Given the description of an element on the screen output the (x, y) to click on. 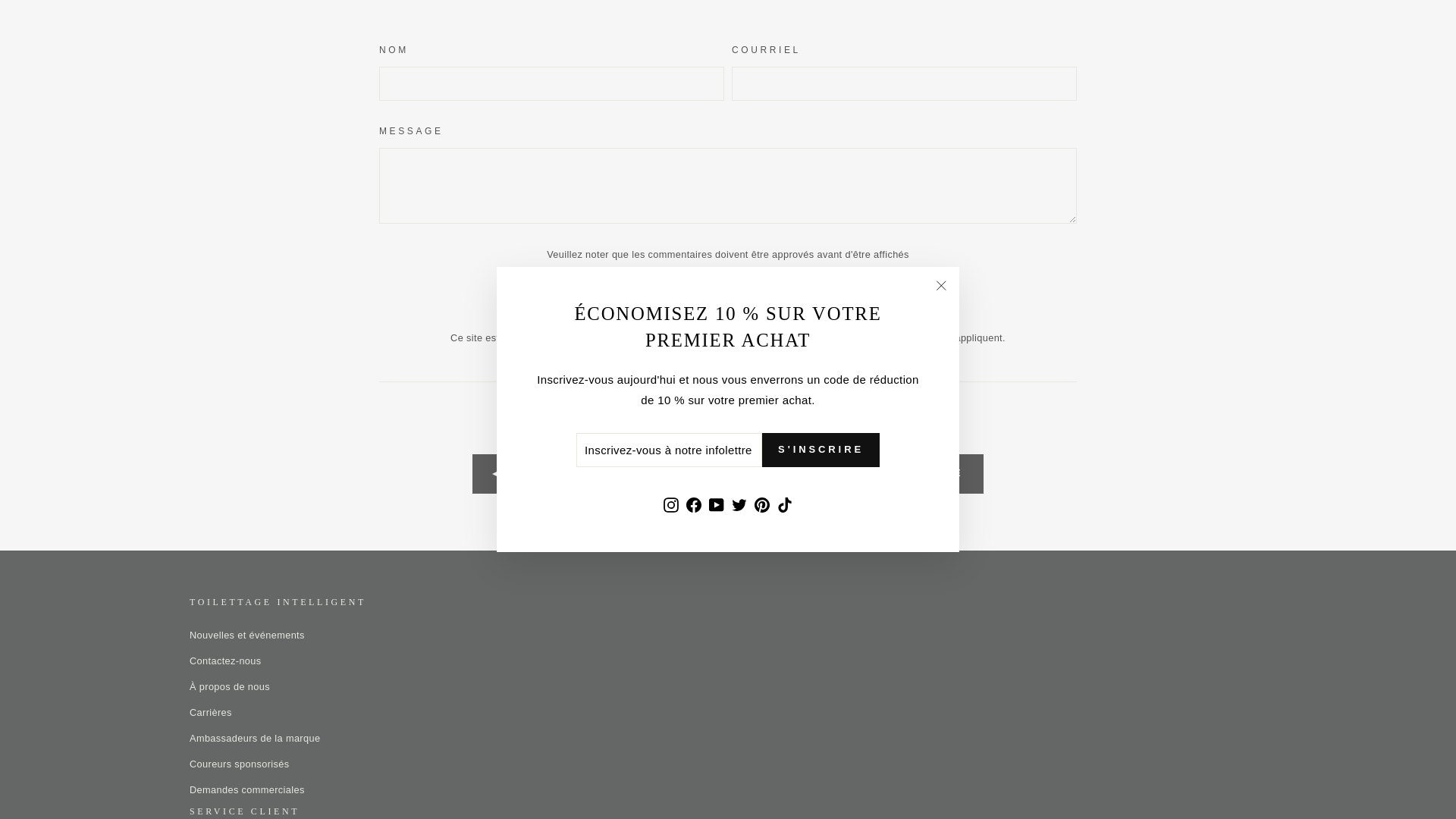
ICON-LEFT-ARROW (499, 473)
